Given the description of an element on the screen output the (x, y) to click on. 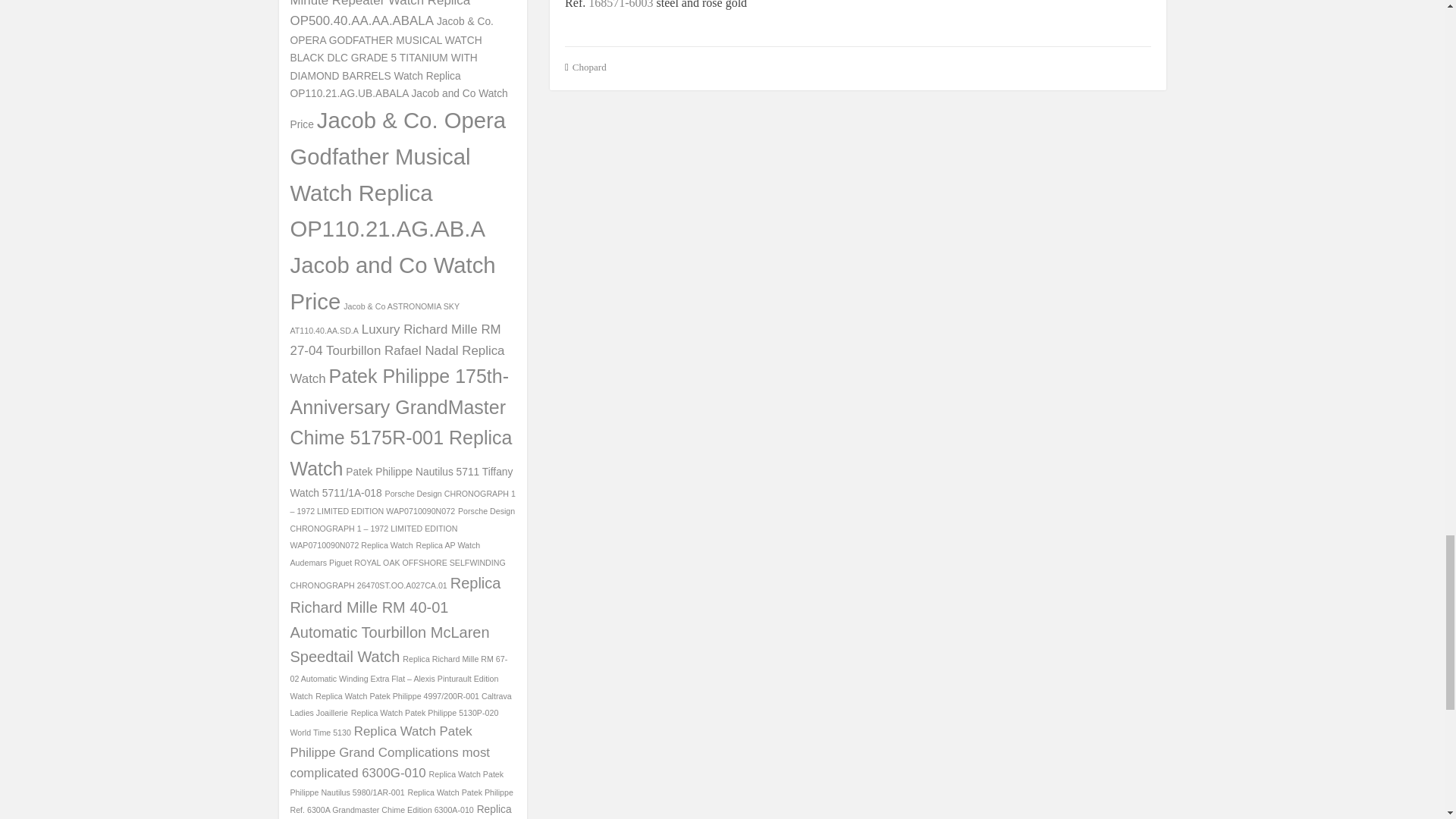
168571-6003 (620, 4)
Chopard (589, 66)
